Given the description of an element on the screen output the (x, y) to click on. 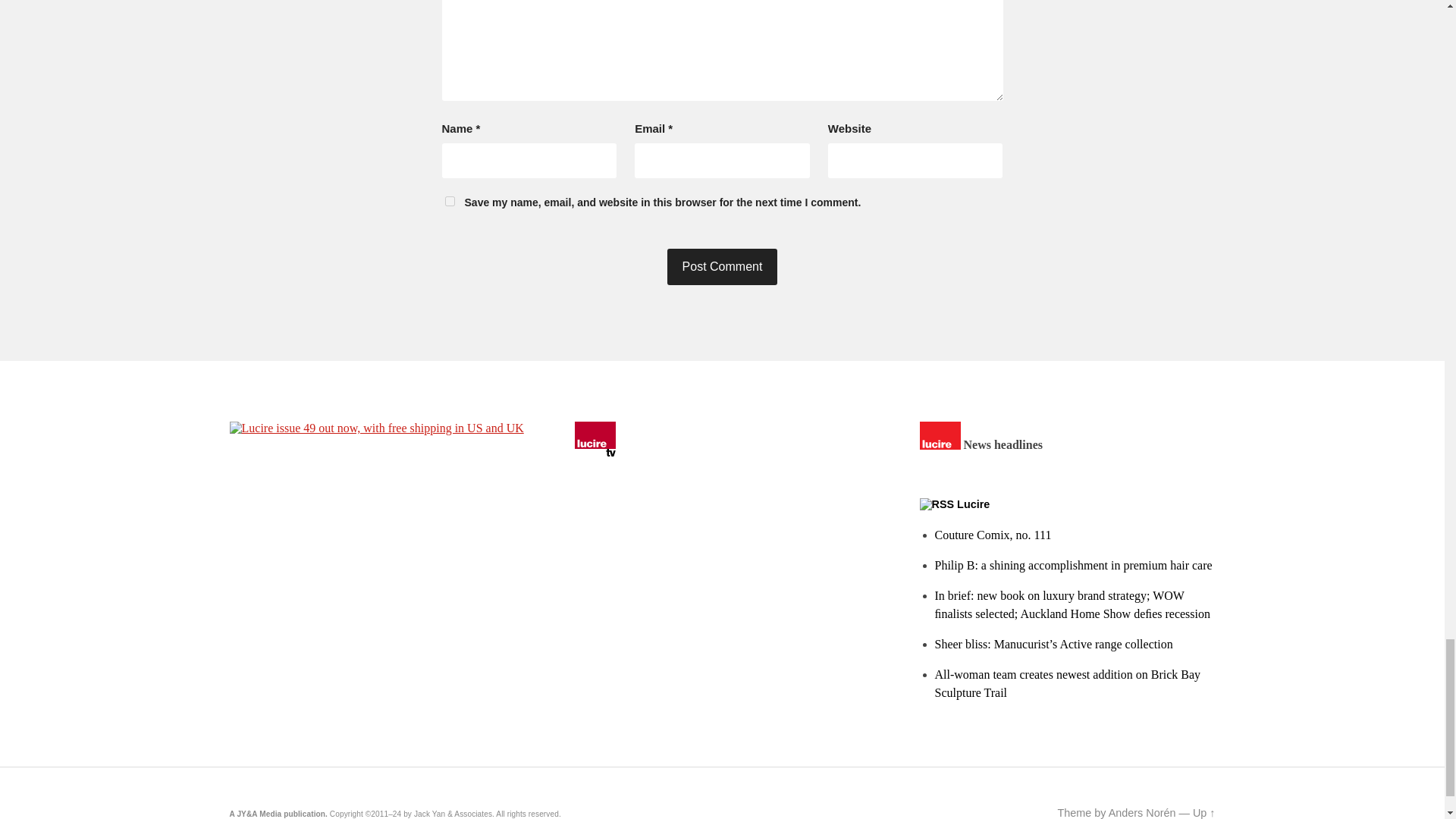
Lucire issue 49 out now, with free shipping in US and UK (375, 427)
Post Comment (721, 266)
yes (449, 201)
